Given the description of an element on the screen output the (x, y) to click on. 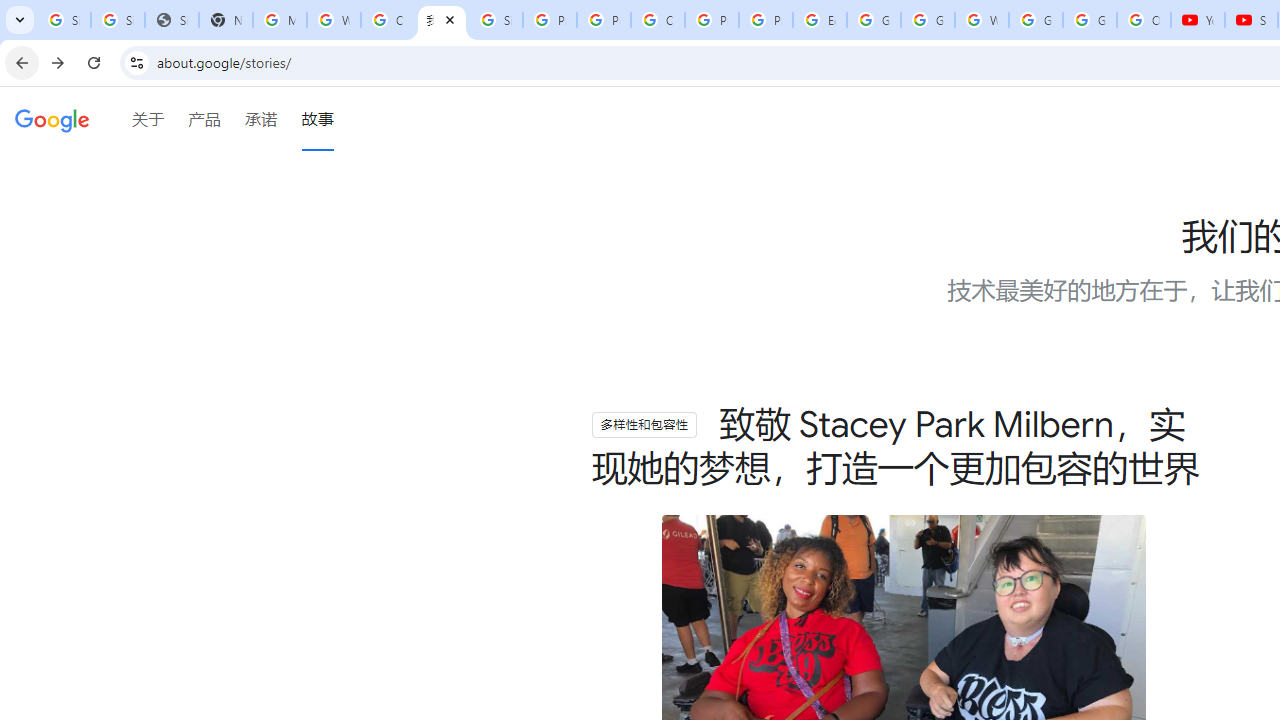
Welcome to My Activity (981, 20)
Sign in - Google Accounts (63, 20)
Who is my administrator? - Google Account Help (333, 20)
